Given the description of an element on the screen output the (x, y) to click on. 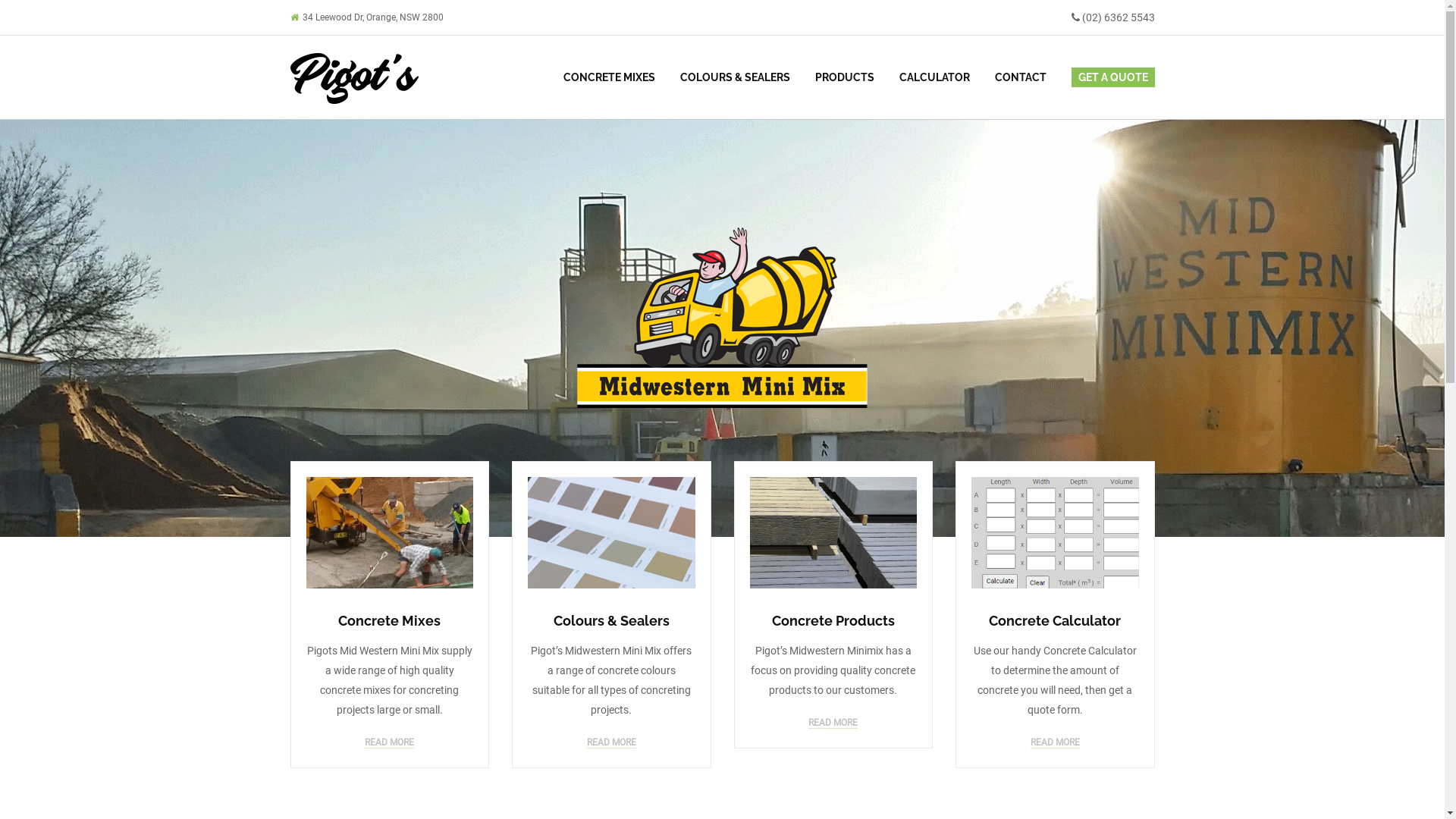
CALCULATOR Element type: text (933, 77)
READ MORE Element type: text (1054, 742)
READ MORE Element type: text (611, 742)
GET A QUOTE Element type: text (1107, 77)
PRODUCTS Element type: text (844, 77)
READ MORE Element type: text (832, 722)
CONTACT Element type: text (1019, 77)
CONCRETE MIXES Element type: text (609, 77)
COLOURS & SEALERS Element type: text (734, 77)
READ MORE Element type: text (389, 742)
